Given the description of an element on the screen output the (x, y) to click on. 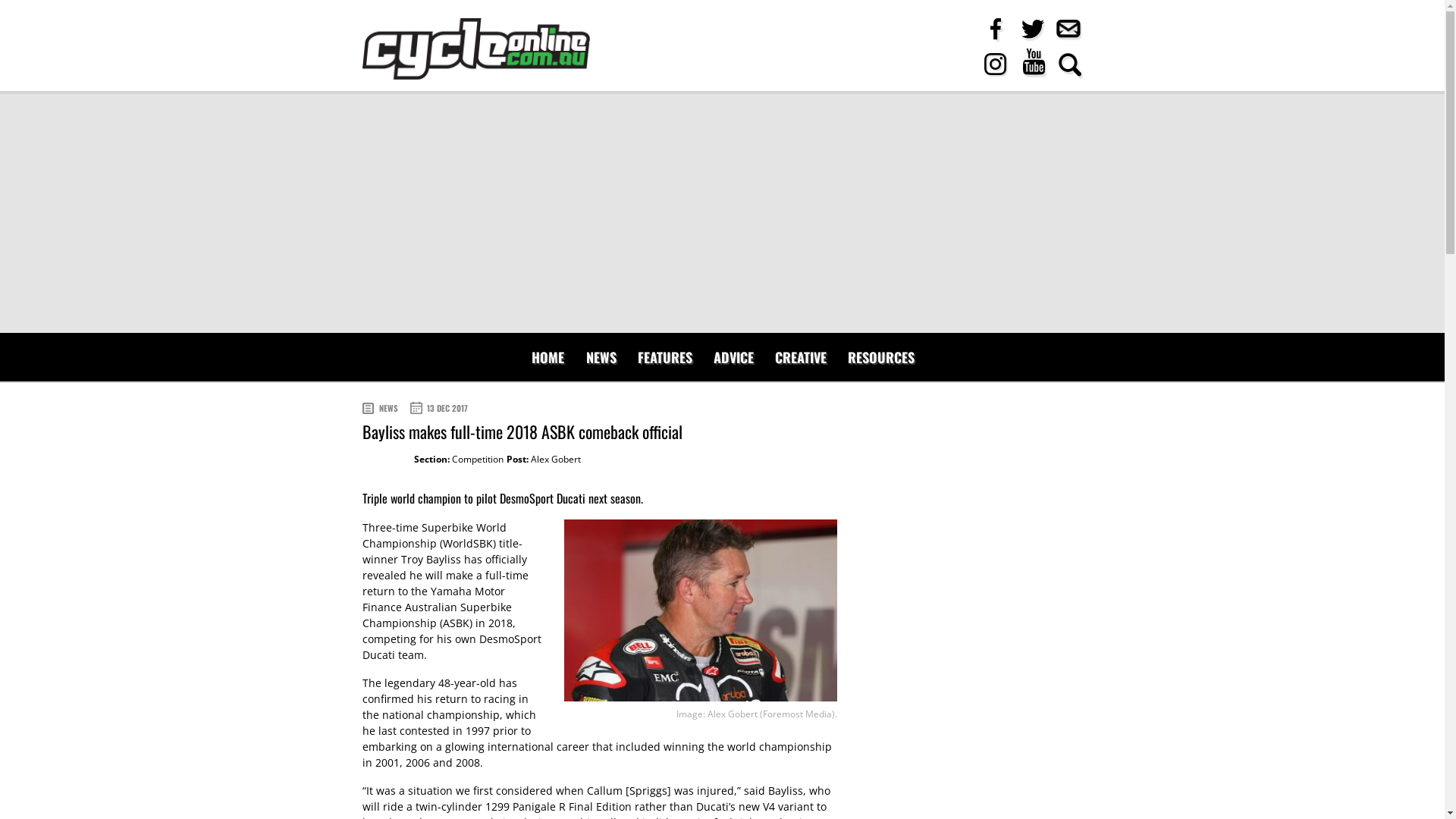
FEATURES Element type: text (664, 356)
Home Element type: hover (475, 48)
RESOURCES Element type: text (880, 356)
HOME Element type: text (547, 356)
NEWS Element type: text (601, 356)
ADVICE Element type: text (733, 356)
CREATIVE Element type: text (800, 356)
